Given the description of an element on the screen output the (x, y) to click on. 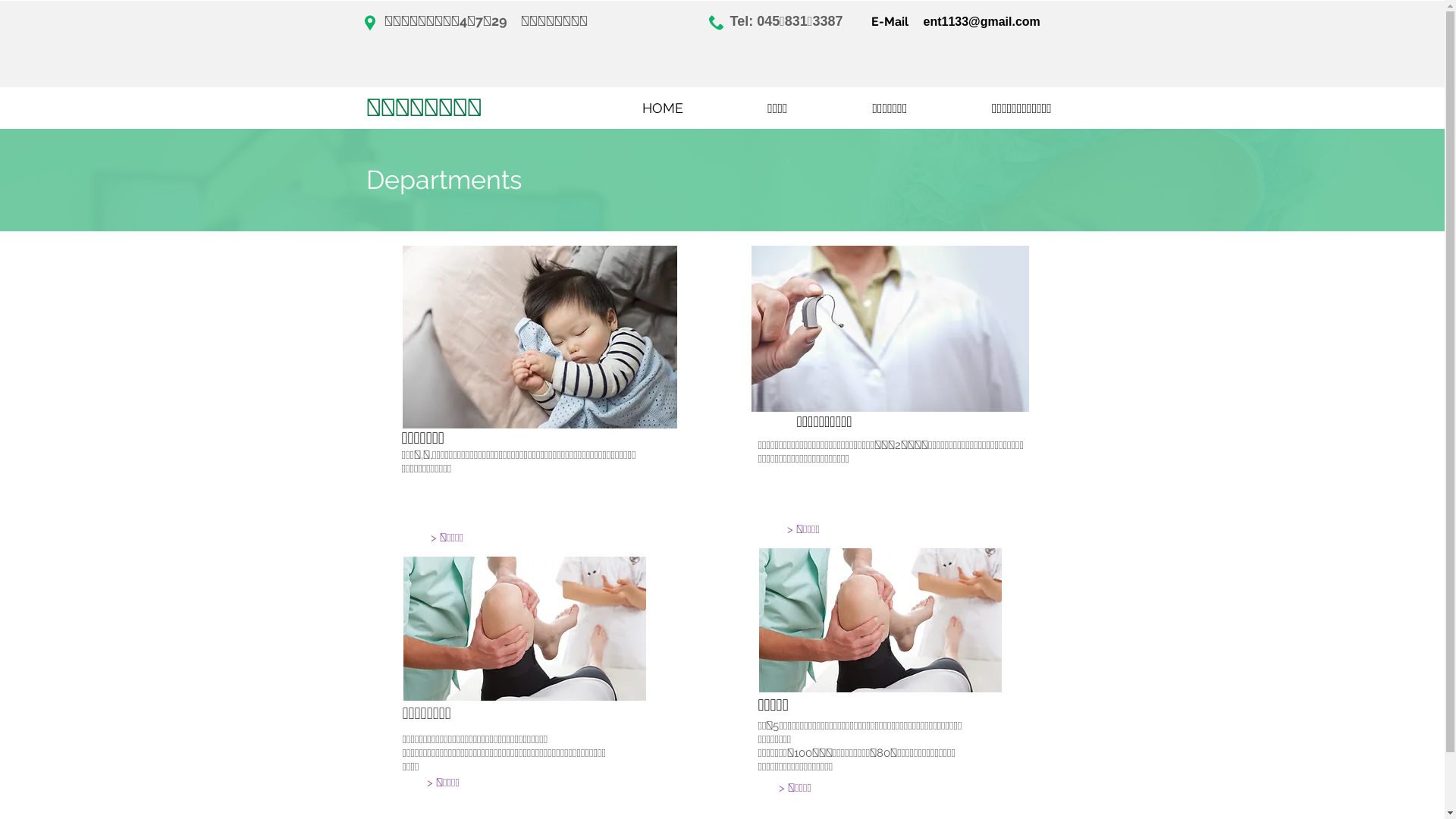
HOME Element type: text (661, 107)
ent1133@gmail.com Element type: text (981, 21)
